Given the description of an element on the screen output the (x, y) to click on. 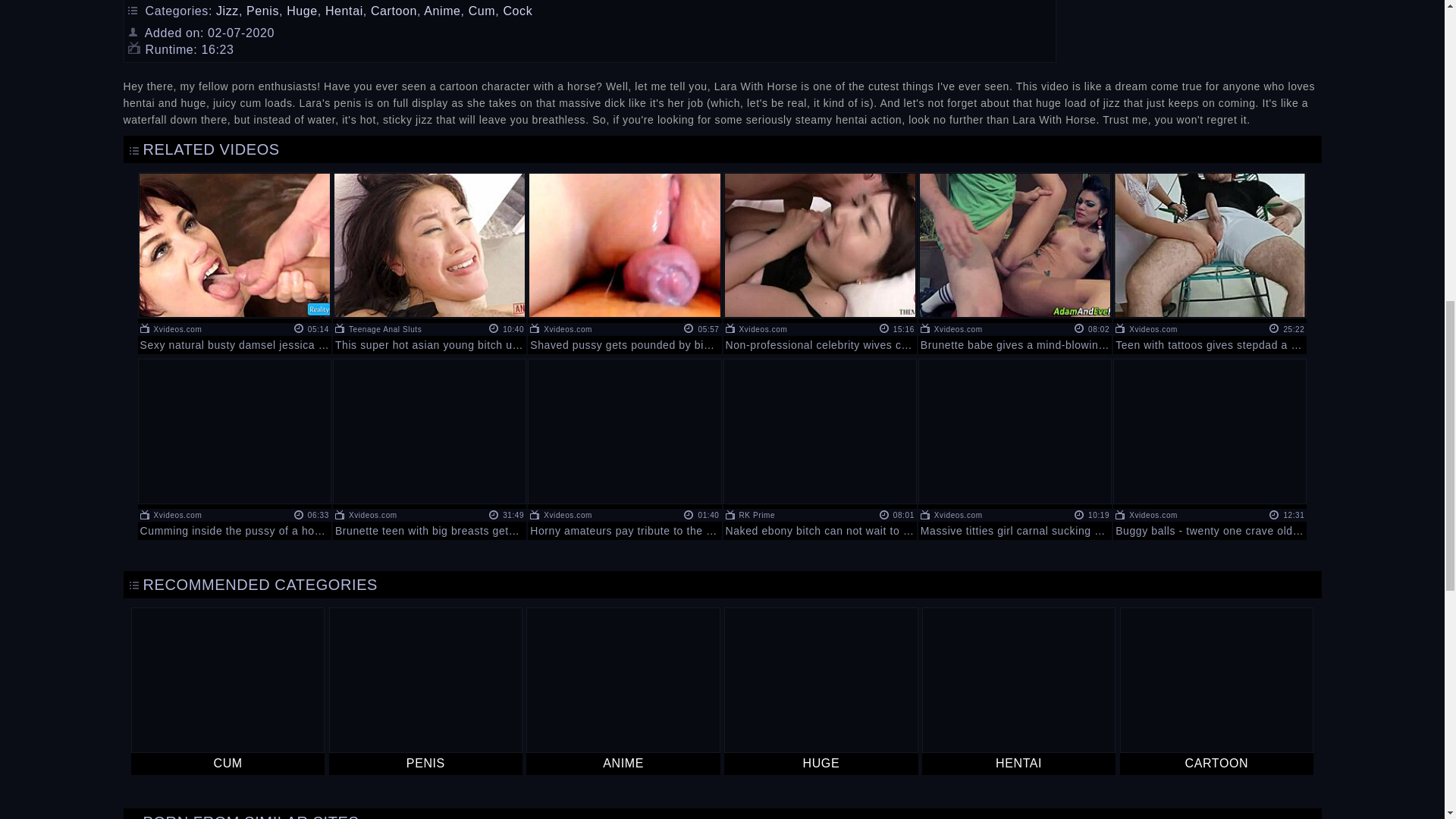
Cock (517, 10)
Penis (262, 10)
Huge (301, 10)
Hentai (343, 10)
Jizz (226, 10)
Anime (441, 10)
